Given the description of an element on the screen output the (x, y) to click on. 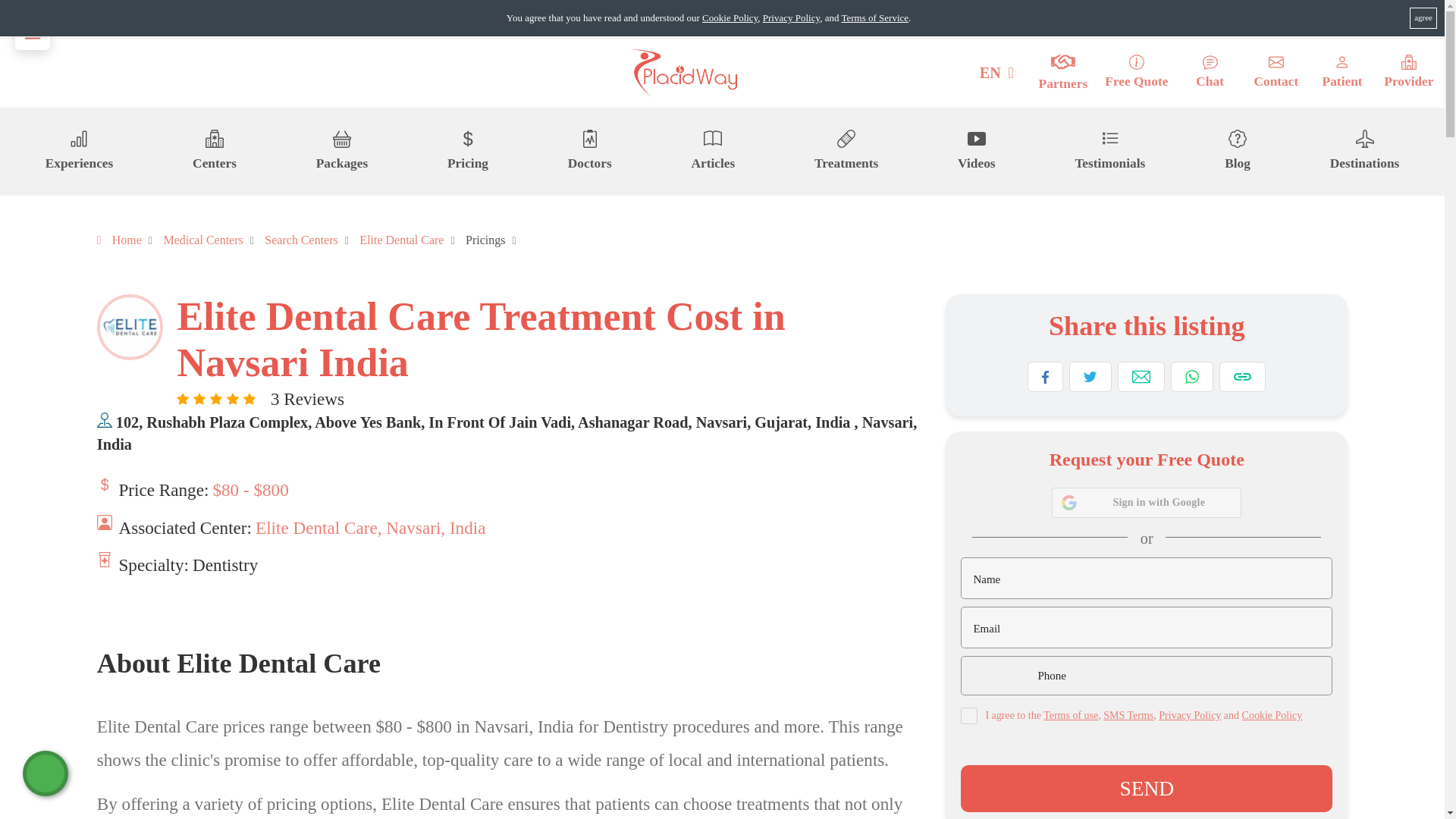
Privacy Policy (790, 17)
Treatments (845, 151)
Destinations (1364, 151)
Packages (341, 151)
Contact (1275, 72)
agree (1423, 17)
Cookie Policy (729, 17)
Centers (213, 151)
Terms of Service (874, 17)
Pricing (466, 151)
